Given the description of an element on the screen output the (x, y) to click on. 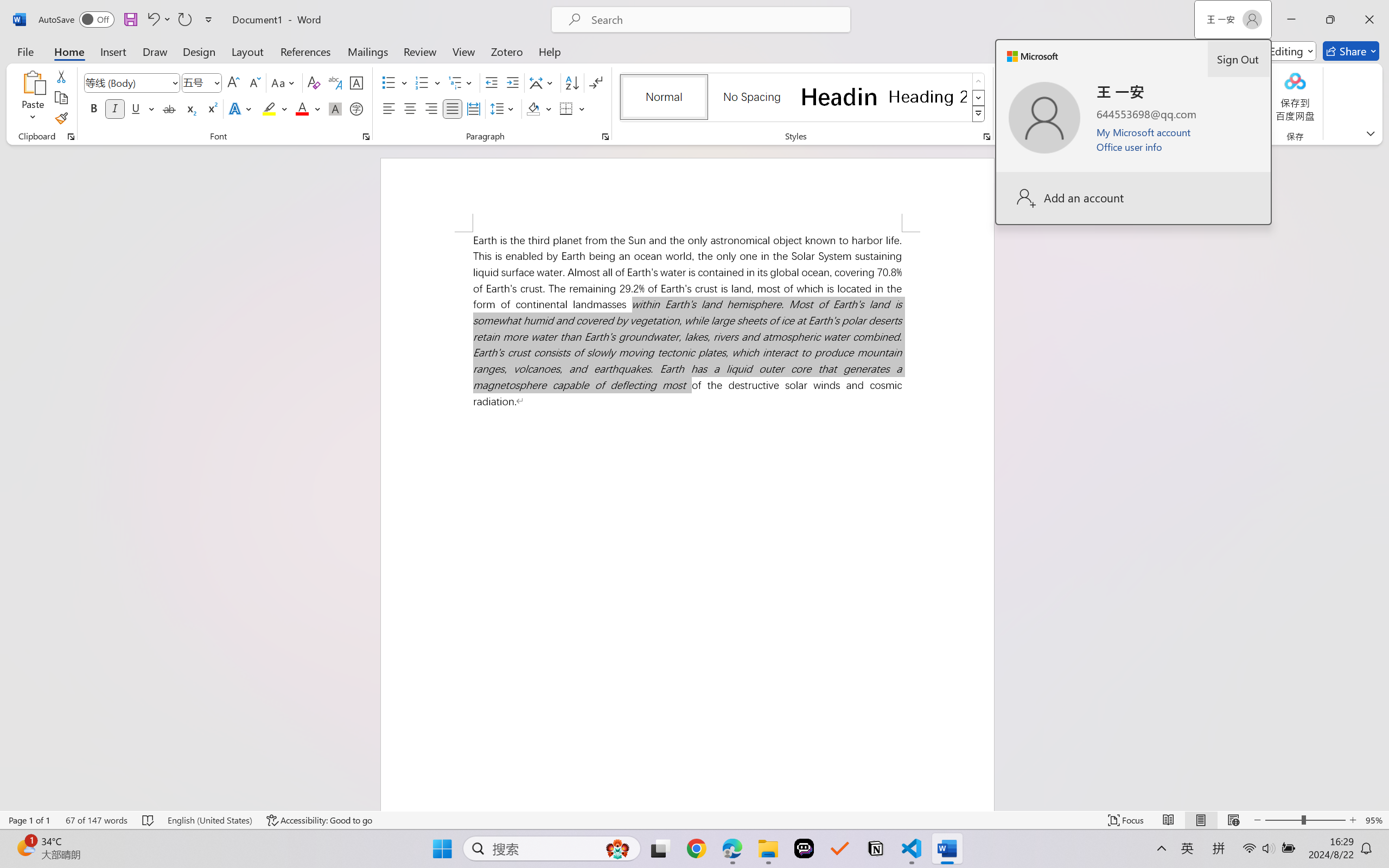
Center (409, 108)
